Given the description of an element on the screen output the (x, y) to click on. 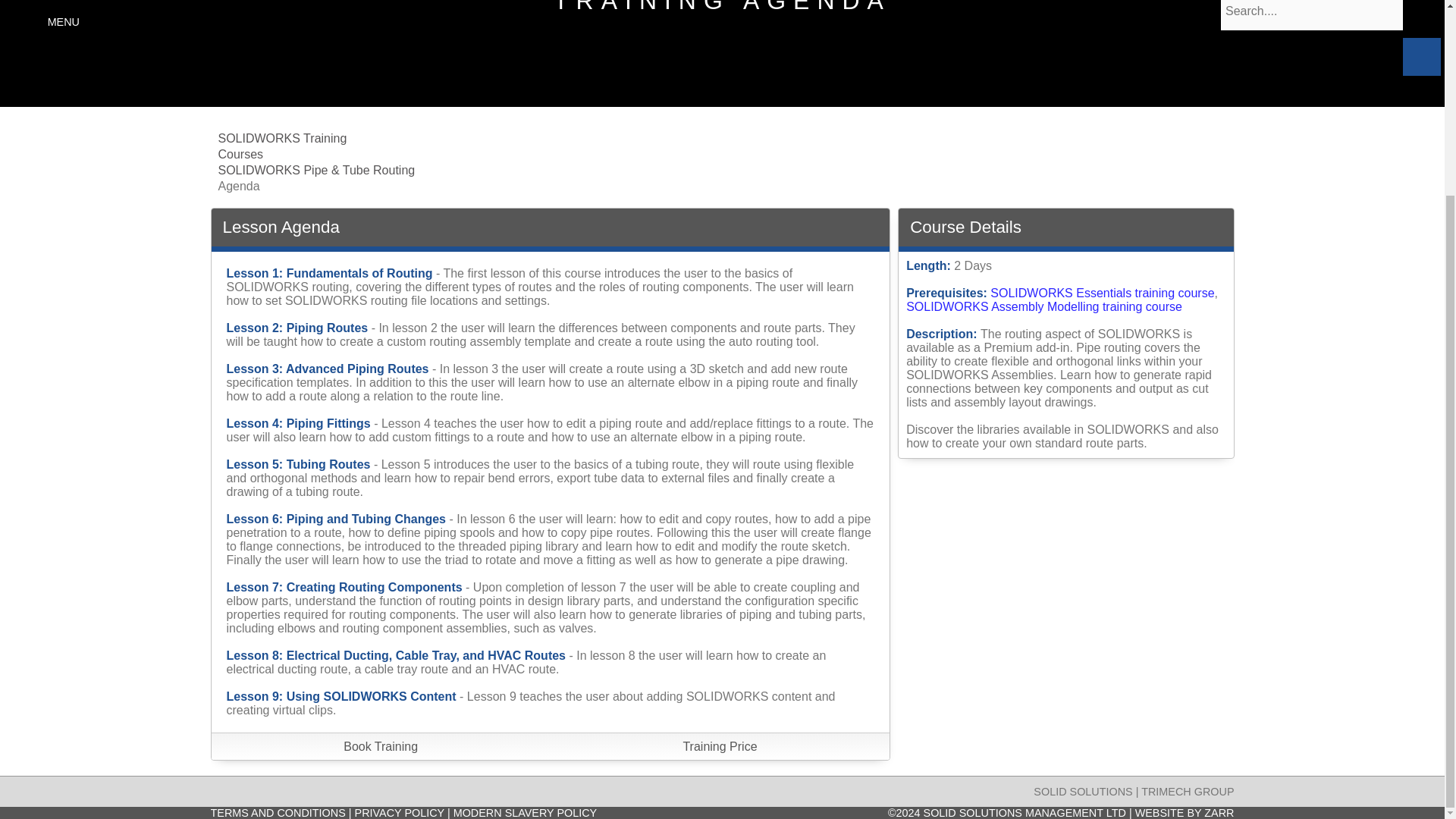
SOLIDWORKS Essentials training course (1102, 292)
SOLIDWORKS Assembly Modelling training course (1043, 306)
